Given the description of an element on the screen output the (x, y) to click on. 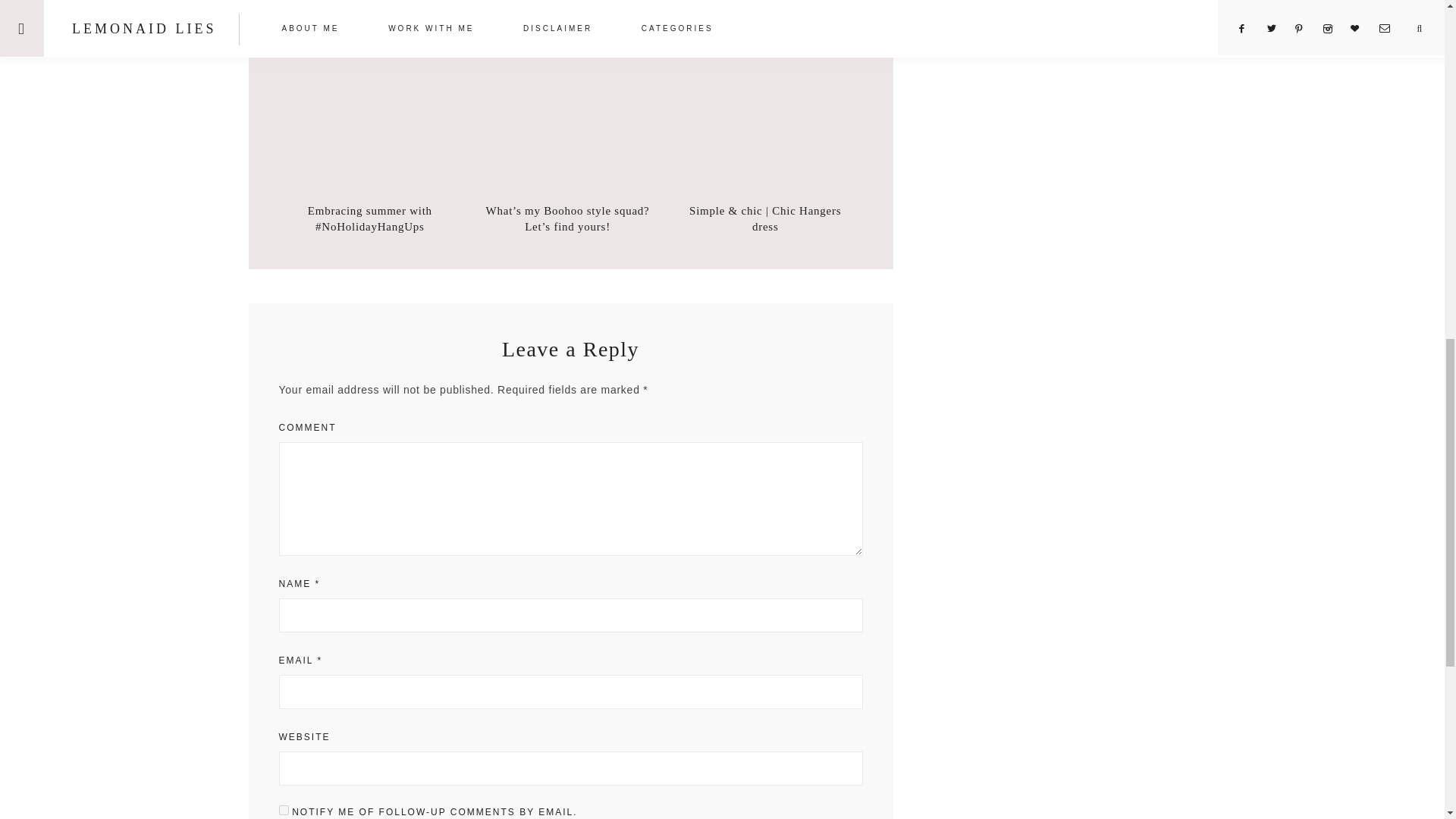
subscribe (283, 809)
